Given the description of an element on the screen output the (x, y) to click on. 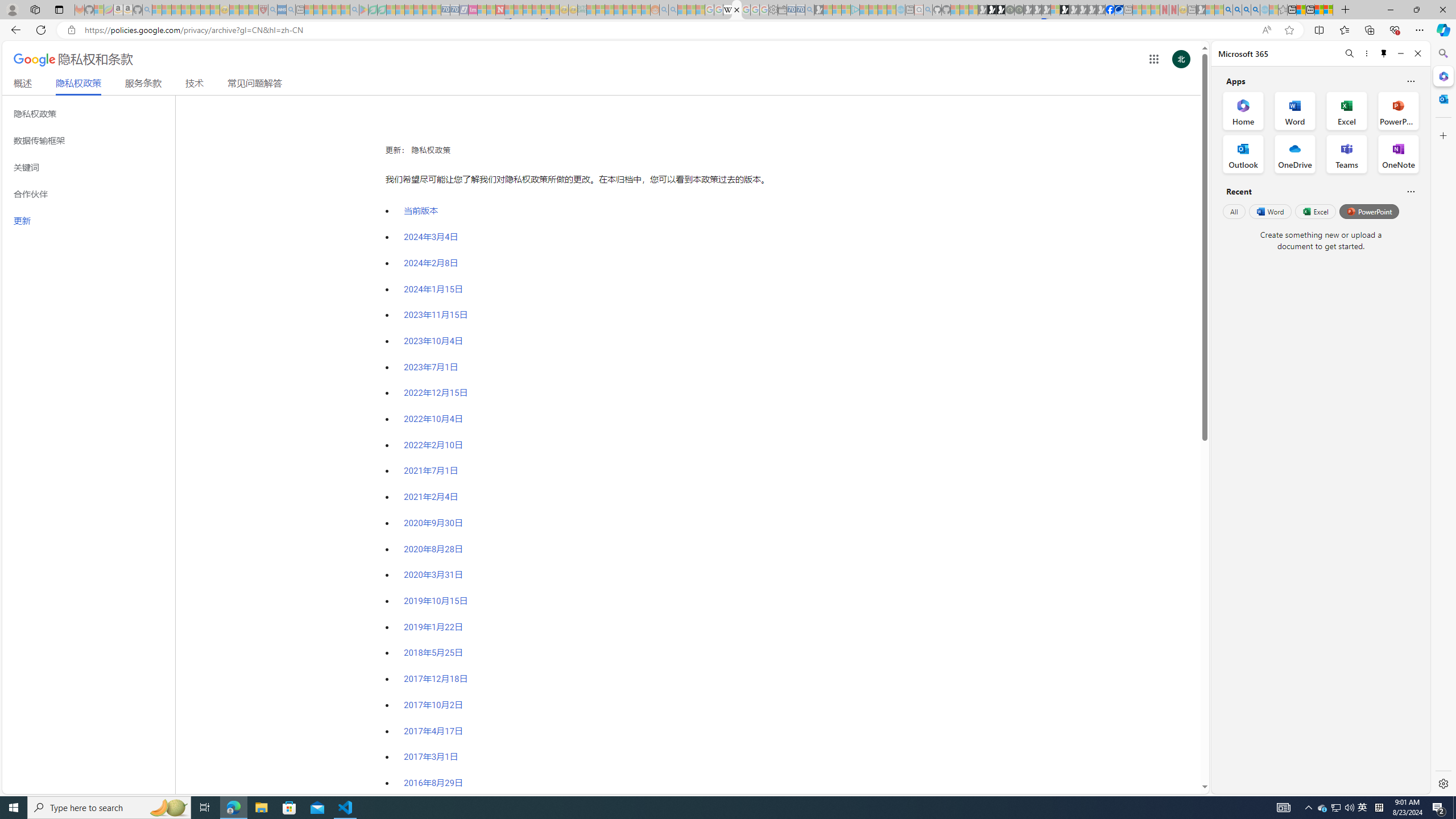
New Report Confirms 2023 Was Record Hot | Watch - Sleeping (195, 9)
Cheap Car Rentals - Save70.com - Sleeping (799, 9)
Favorites - Sleeping (1283, 9)
